Given the description of an element on the screen output the (x, y) to click on. 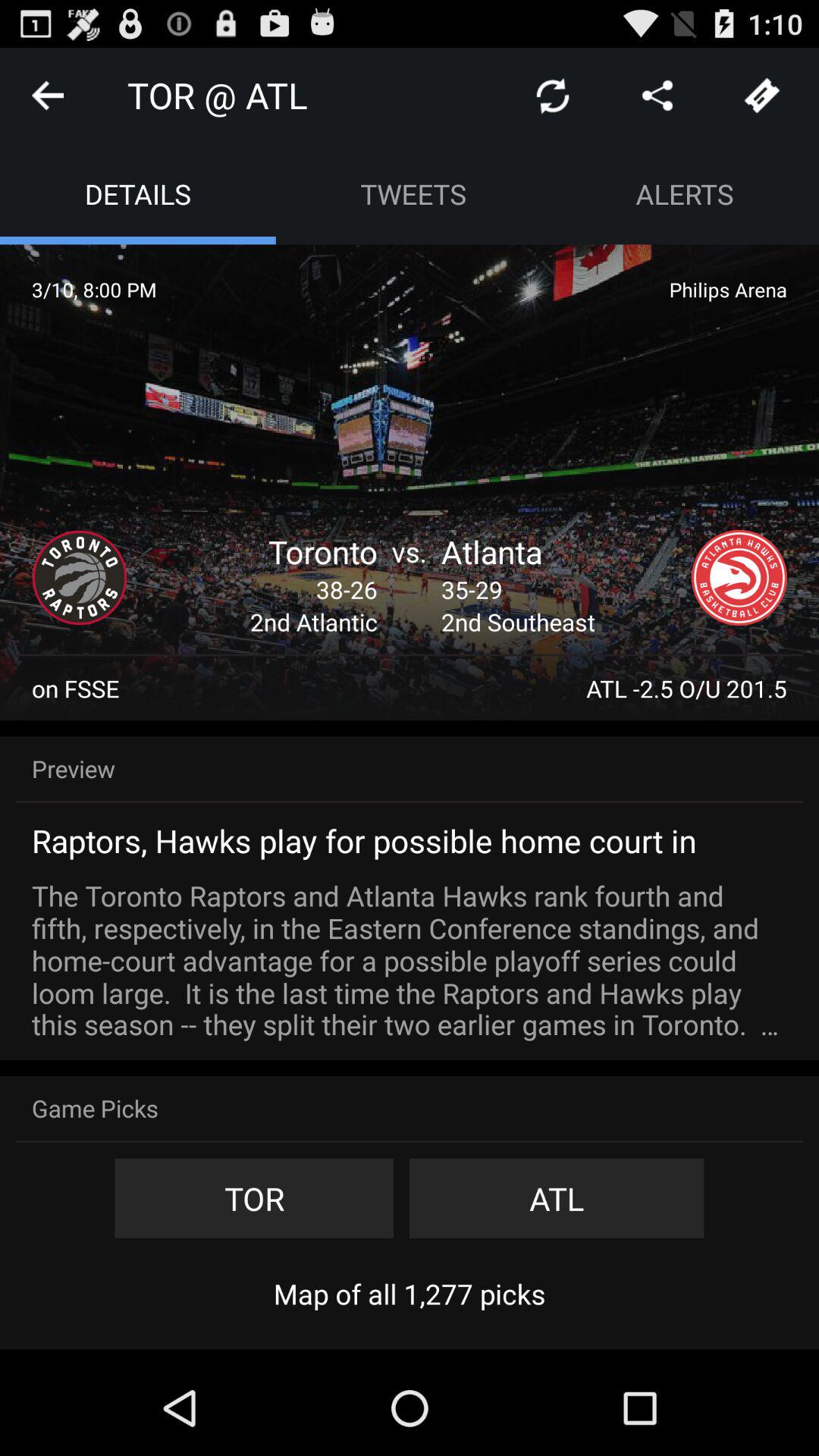
refresh page (552, 95)
